Given the description of an element on the screen output the (x, y) to click on. 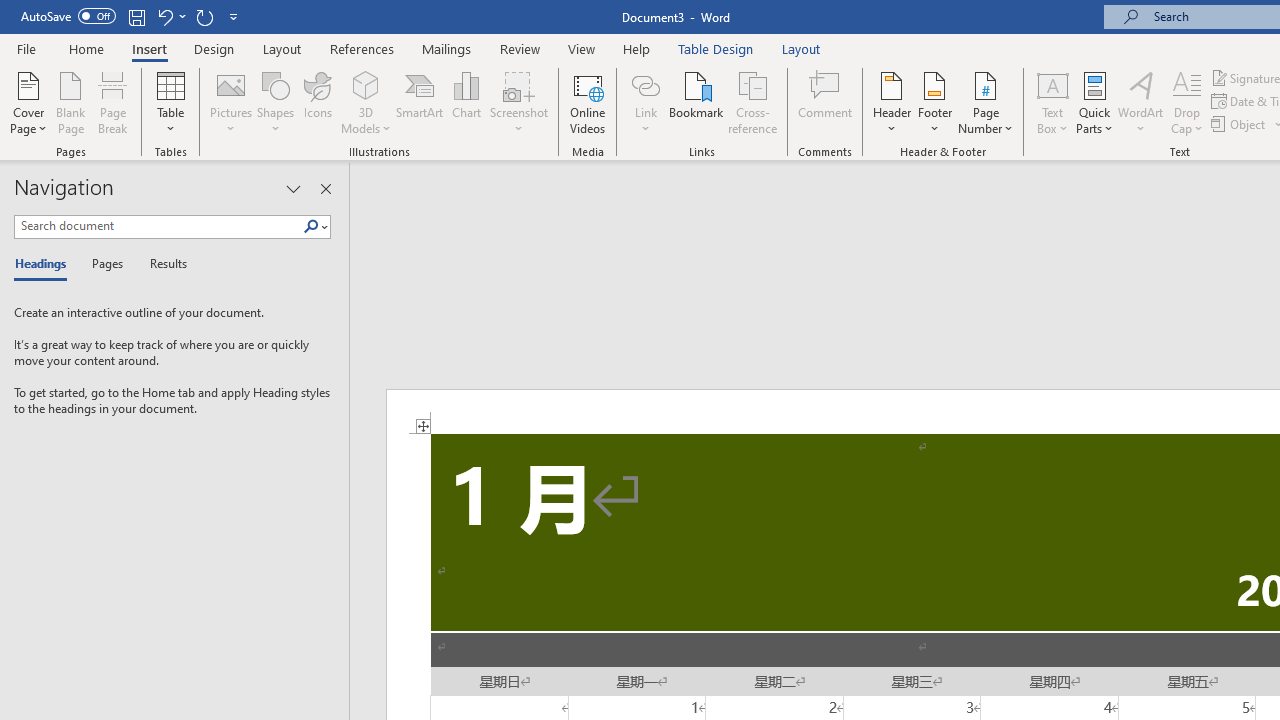
WordArt (1141, 102)
Online Videos... (588, 102)
Quick Parts (1094, 102)
Screenshot (518, 102)
Page Break (113, 102)
Shapes (275, 102)
SmartArt... (419, 102)
Icons (317, 102)
